Given the description of an element on the screen output the (x, y) to click on. 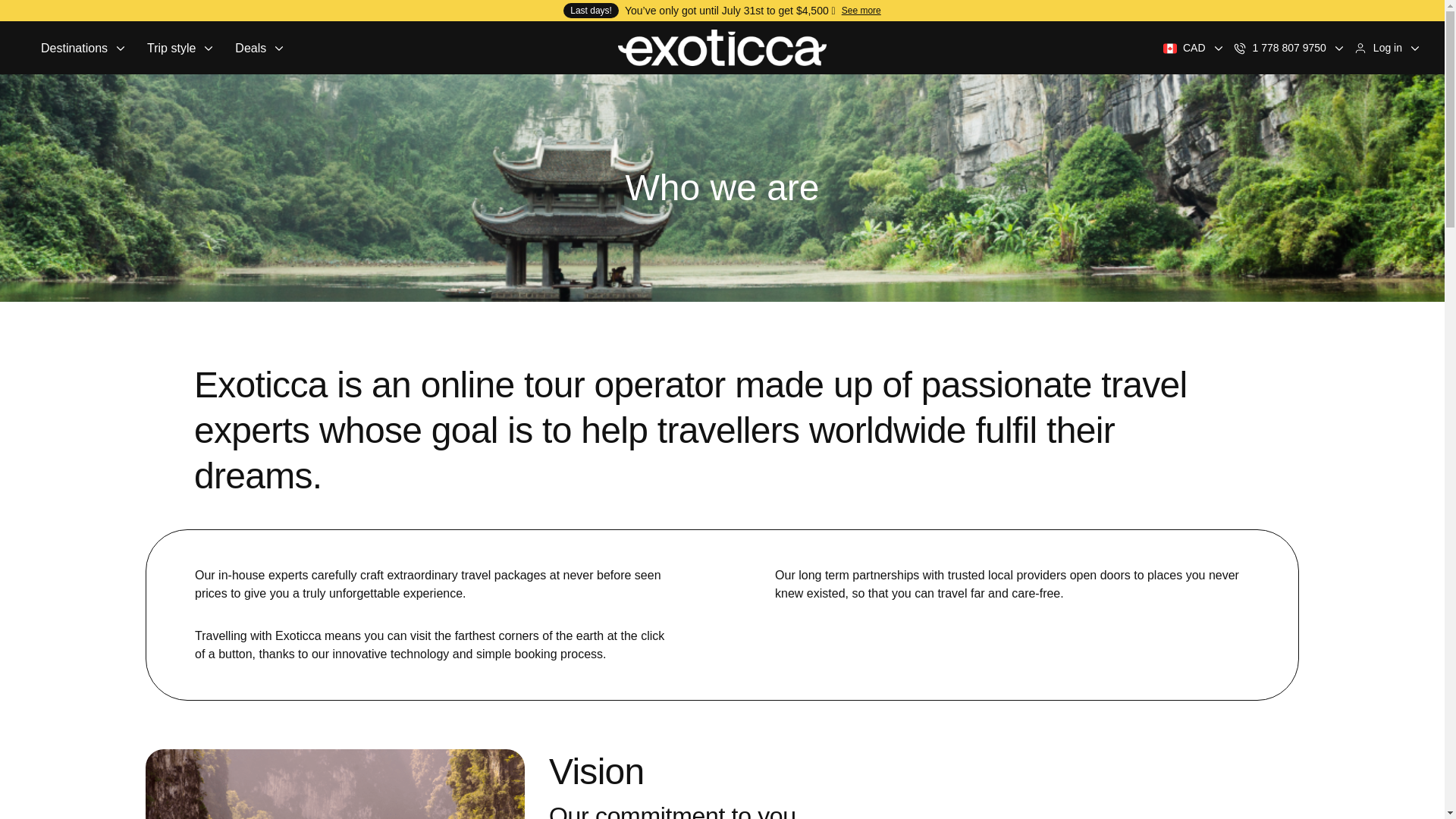
arrow-icon (1218, 47)
arrow-icon (1338, 47)
arrow-icon (120, 47)
arrow-icon (278, 47)
arrow-icon (208, 47)
arrow-icon (1414, 47)
